Given the description of an element on the screen output the (x, y) to click on. 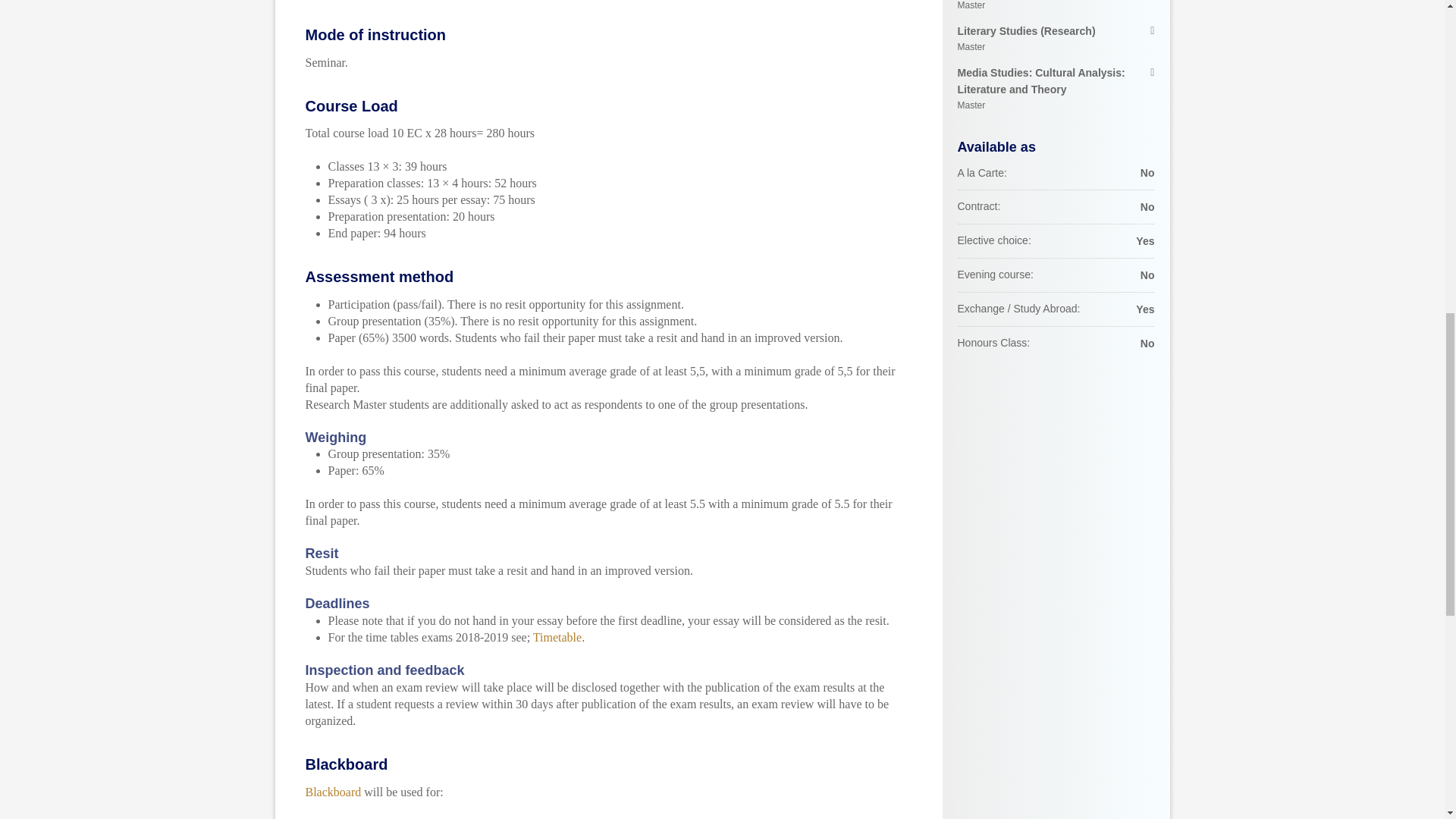
Blackboard (332, 791)
Timetable (556, 636)
